Given the description of an element on the screen output the (x, y) to click on. 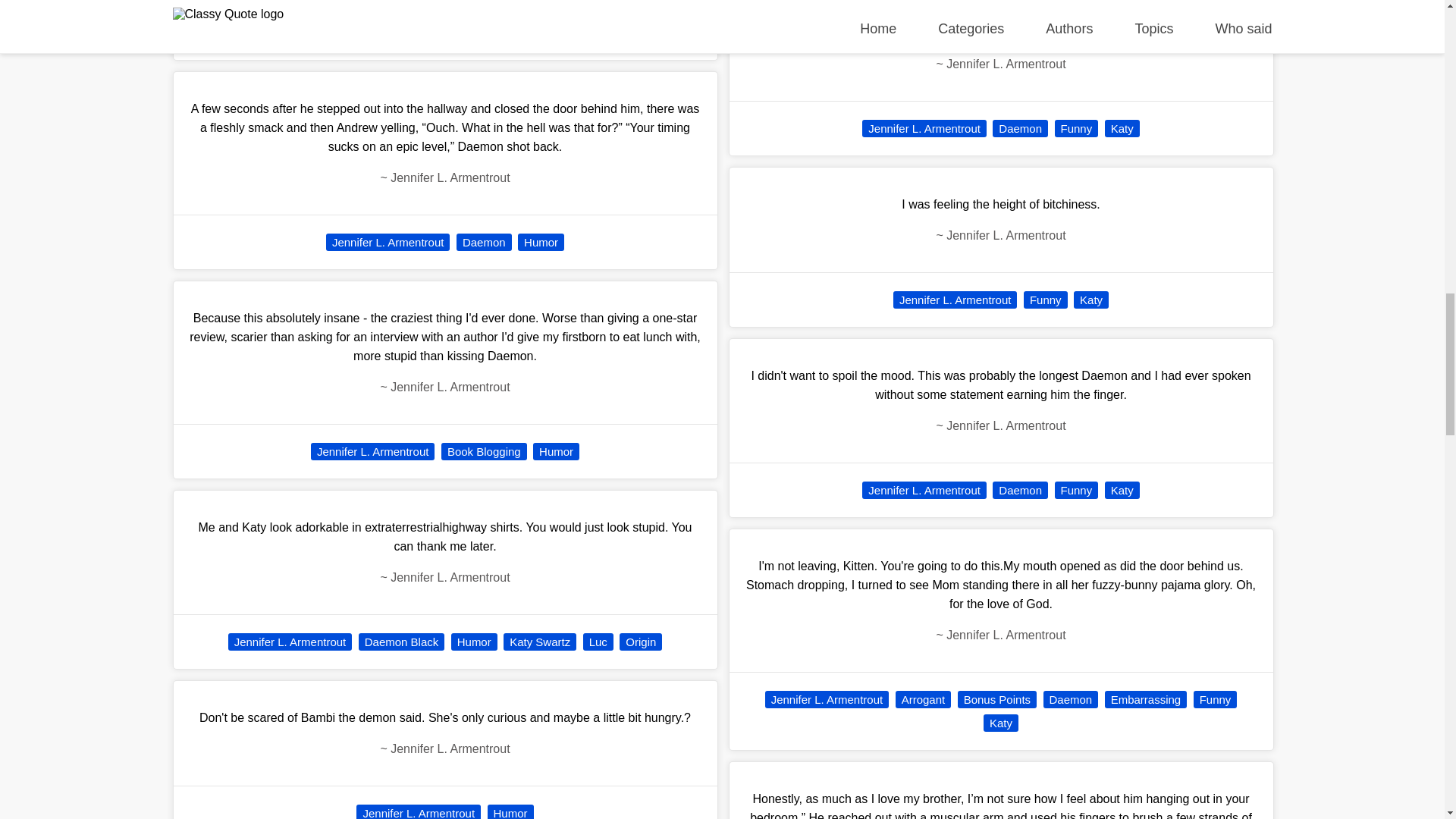
Humor (535, 32)
Funny (483, 32)
Jennifer L. Armentrout (393, 32)
Jennifer L. Armentrout (387, 241)
